Given the description of an element on the screen output the (x, y) to click on. 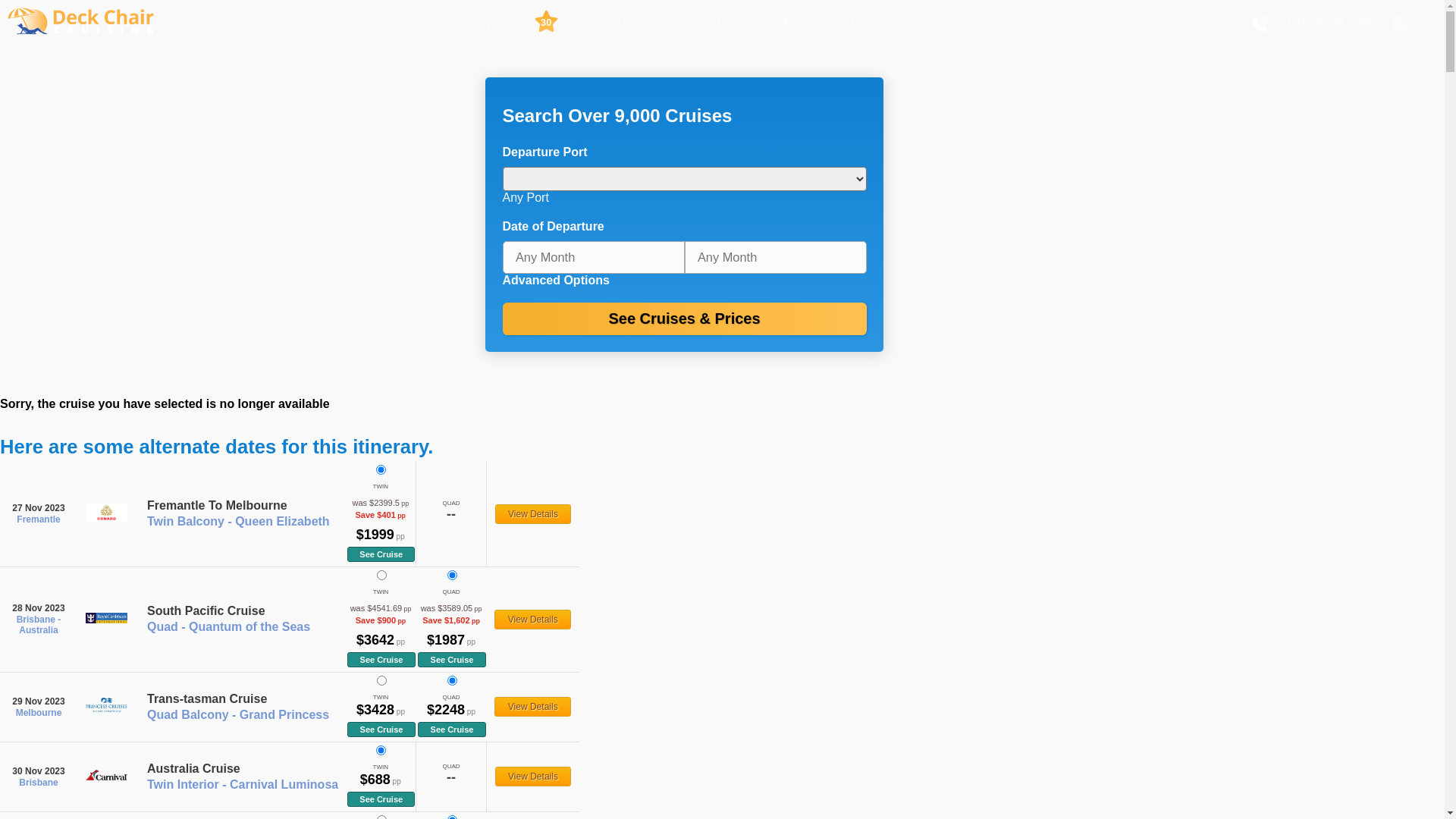
View Details Element type: text (532, 619)
See Cruise Element type: text (380, 729)
See Cruise Element type: text (380, 553)
1800 839 499 Element type: text (1314, 23)
View Details Element type: text (532, 706)
See Cruise Element type: text (451, 659)
Last Minute Cruises Element type: text (919, 23)
See Cruises & Prices Element type: text (684, 318)
See Cruise Element type: text (380, 798)
View Details Element type: text (533, 776)
See Cruise Element type: text (451, 729)
Home Element type: text (423, 23)
Deck Chair Cruising - Home Element type: hover (84, 31)
View Details Element type: text (533, 514)
See Cruise Element type: text (380, 659)
